Given the description of an element on the screen output the (x, y) to click on. 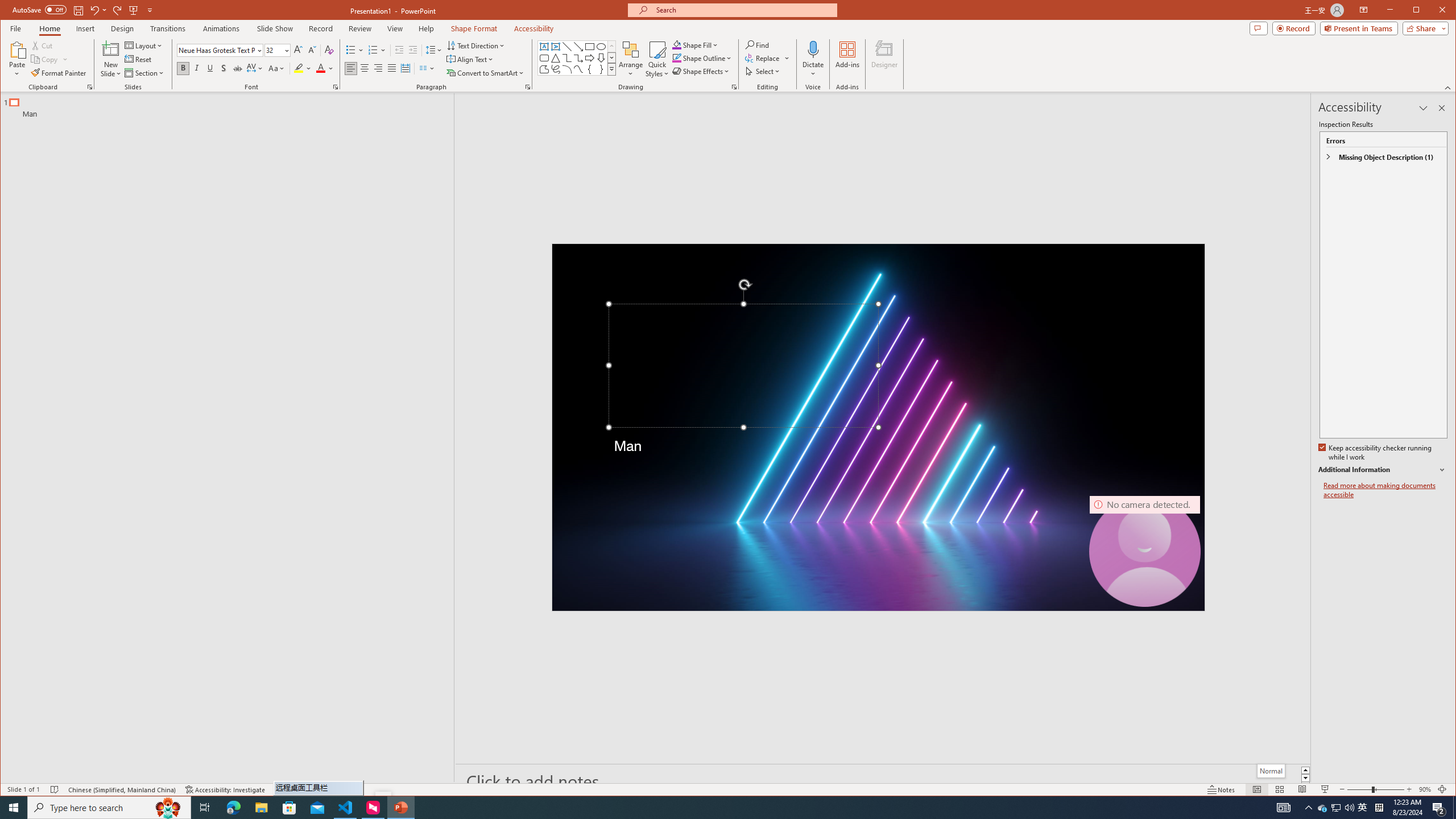
Text Box (544, 46)
Freeform: Scribble (556, 69)
Character Spacing (254, 68)
Subtitle TextBox (742, 486)
File Explorer (261, 807)
Vertical Text Box (556, 46)
Shadow (224, 68)
